Given the description of an element on the screen output the (x, y) to click on. 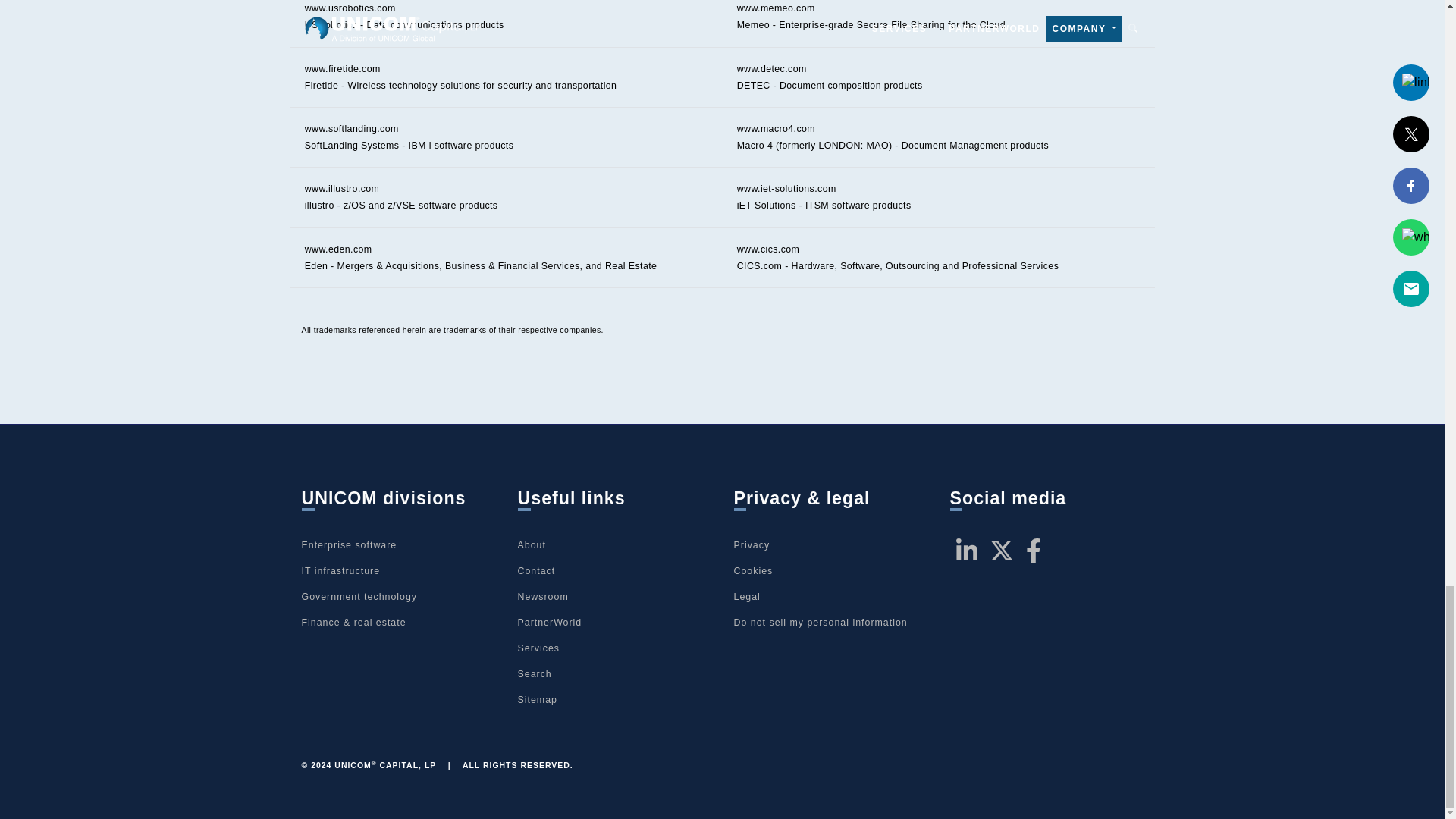
www.eden.com (338, 249)
www.iet-solutions.com (785, 188)
Contact (535, 570)
www.usrobotics.com (350, 8)
Services (537, 647)
www.macro4.com (775, 128)
www.cics.com (767, 249)
www.illustro.com (342, 188)
Newsroom (541, 596)
Enterprise software (349, 544)
